Given the description of an element on the screen output the (x, y) to click on. 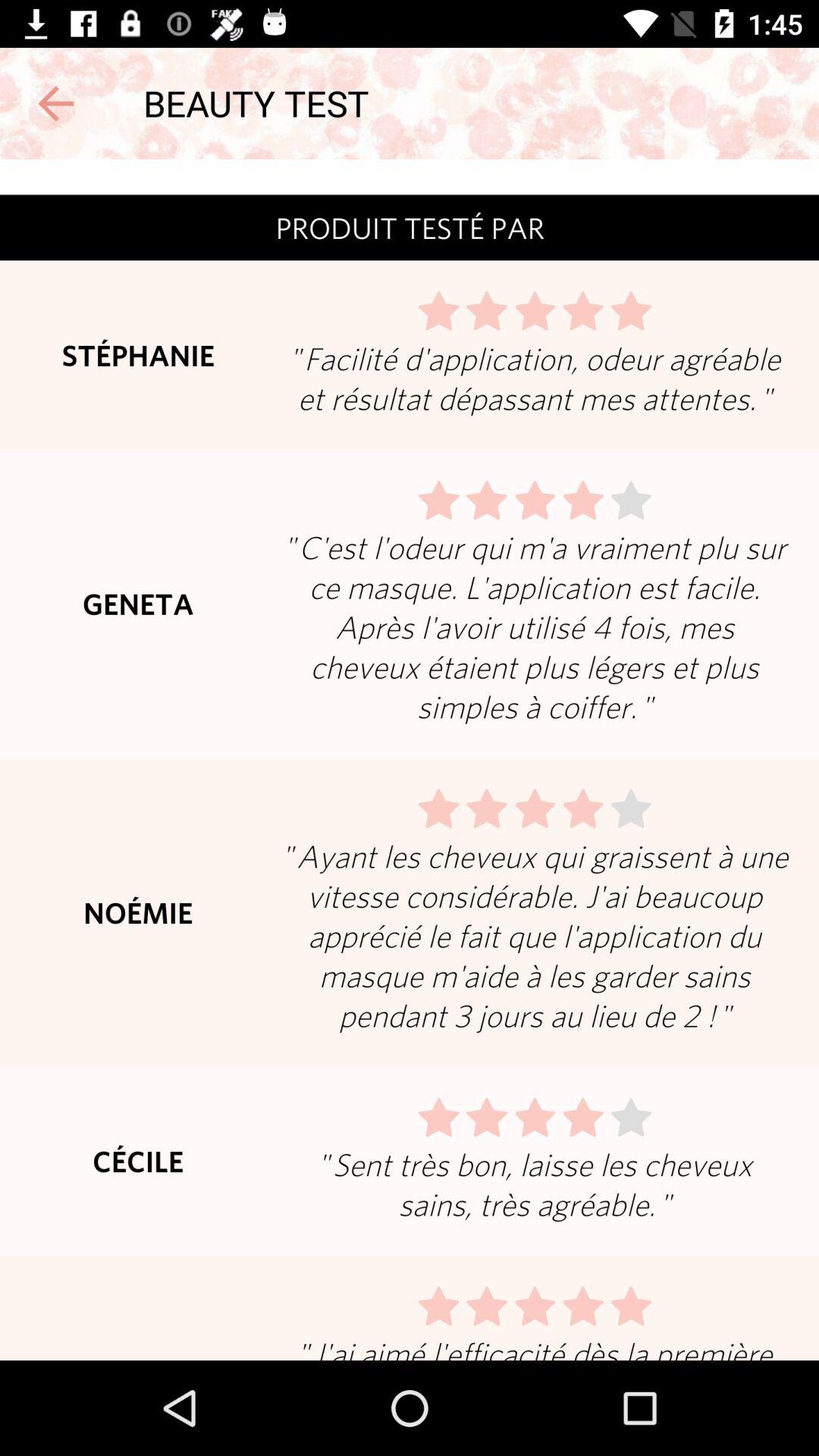
description (409, 759)
